Given the description of an element on the screen output the (x, y) to click on. 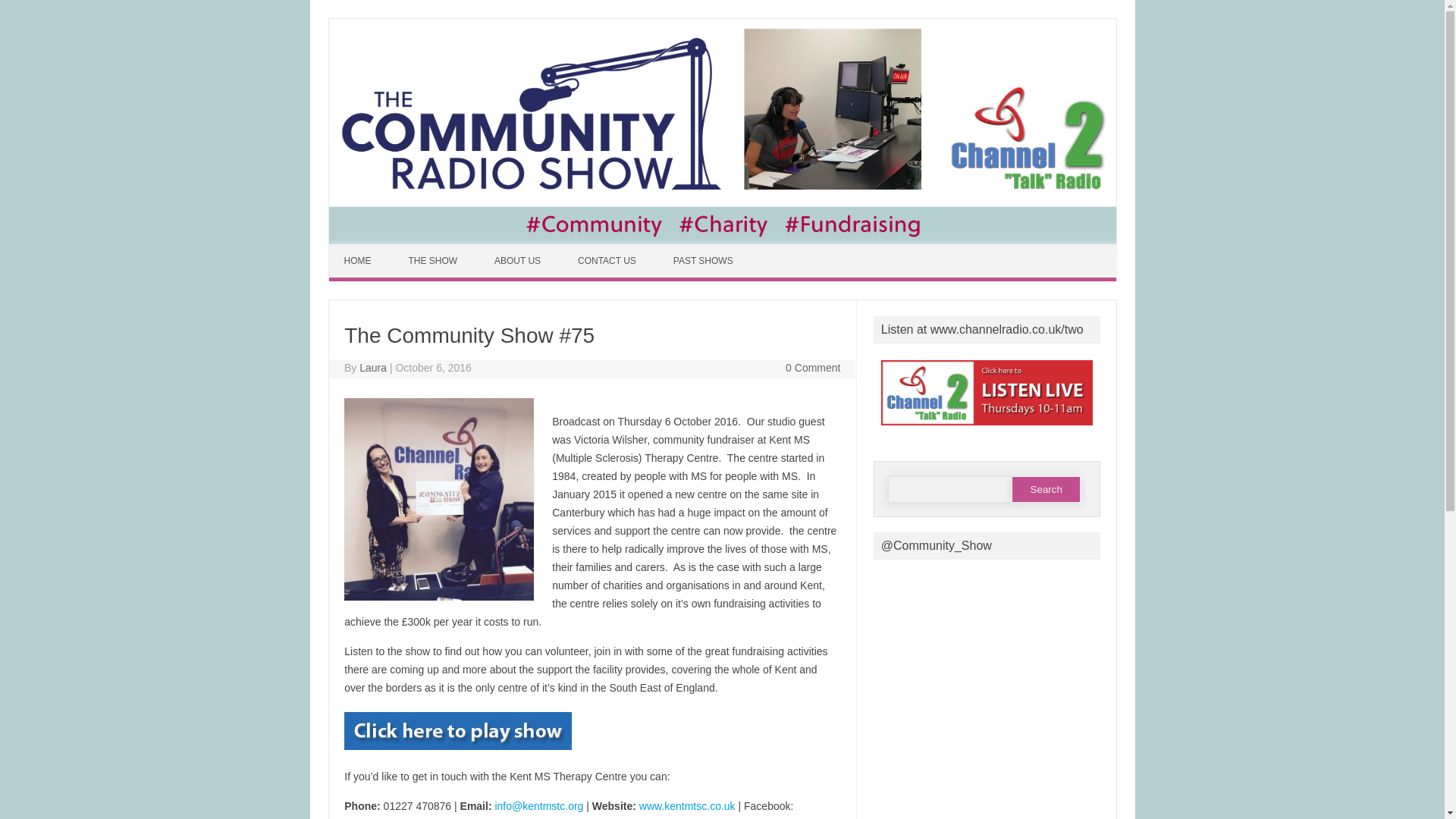
Skip to content (363, 249)
0 Comment (813, 367)
ABOUT US (519, 260)
Search (1045, 488)
HOME (359, 260)
PAST SHOWS (705, 260)
Search (1045, 488)
www.kentmtsc.co.uk (687, 806)
Posts by Laura (373, 367)
The Community Radio Show (722, 240)
THE SHOW (434, 260)
Skip to content (363, 249)
CONTACT US (608, 260)
Laura (373, 367)
